Given the description of an element on the screen output the (x, y) to click on. 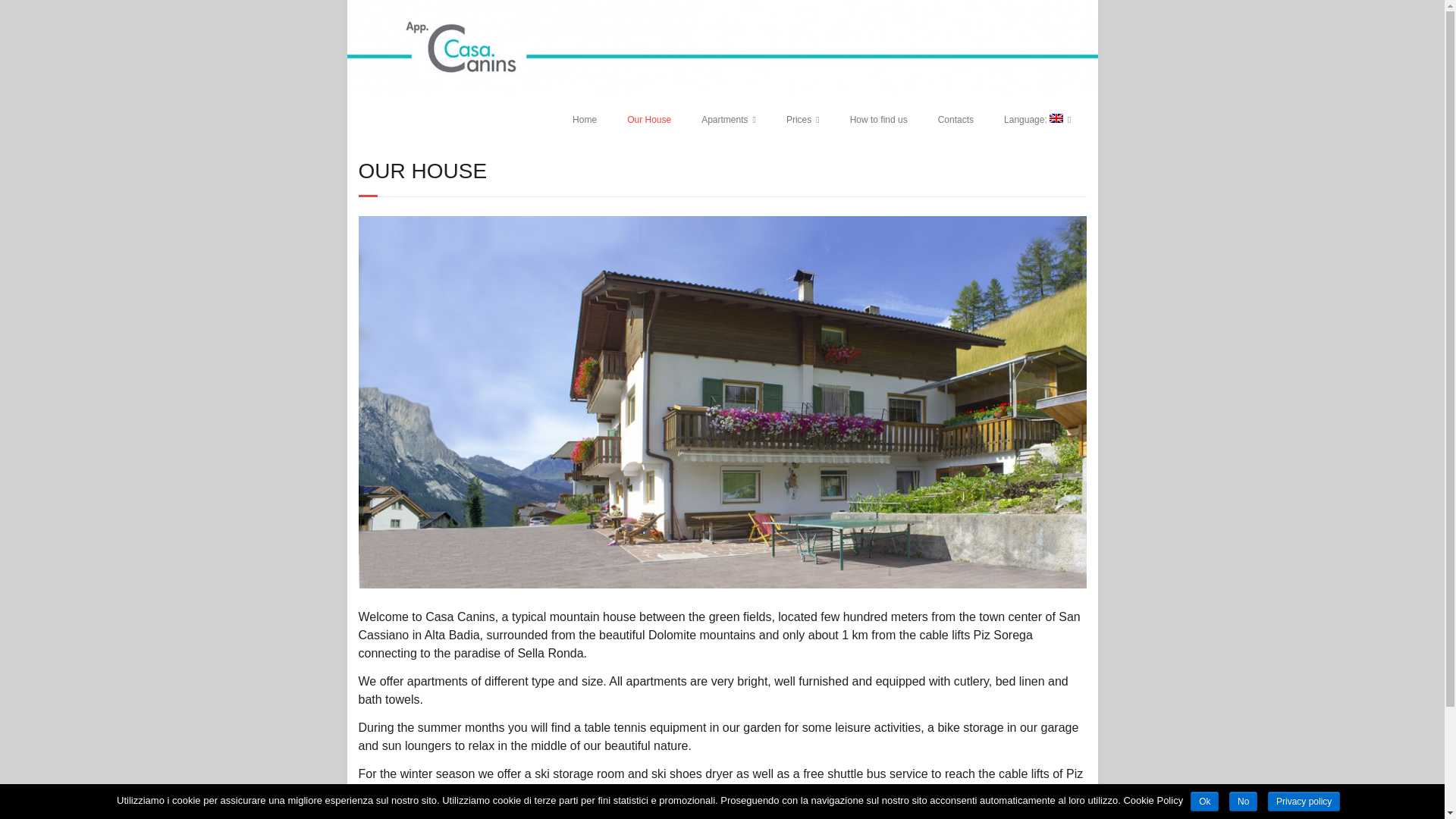
Apartments (728, 119)
Contacts (955, 119)
English (1037, 119)
Home (584, 119)
Our House (722, 584)
Our House (648, 119)
Language:  (1037, 119)
How to find us (878, 119)
Prices (802, 119)
